Given the description of an element on the screen output the (x, y) to click on. 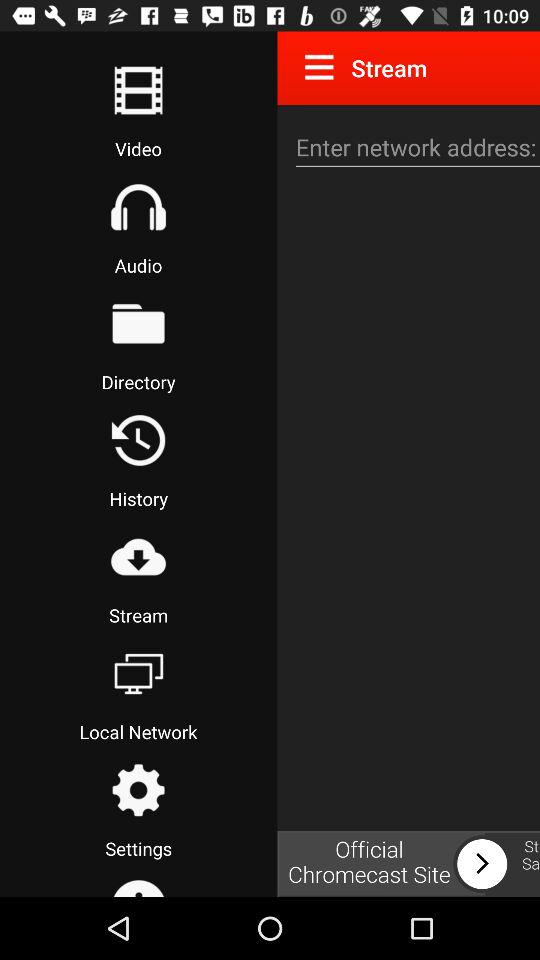
go settings (138, 790)
